Given the description of an element on the screen output the (x, y) to click on. 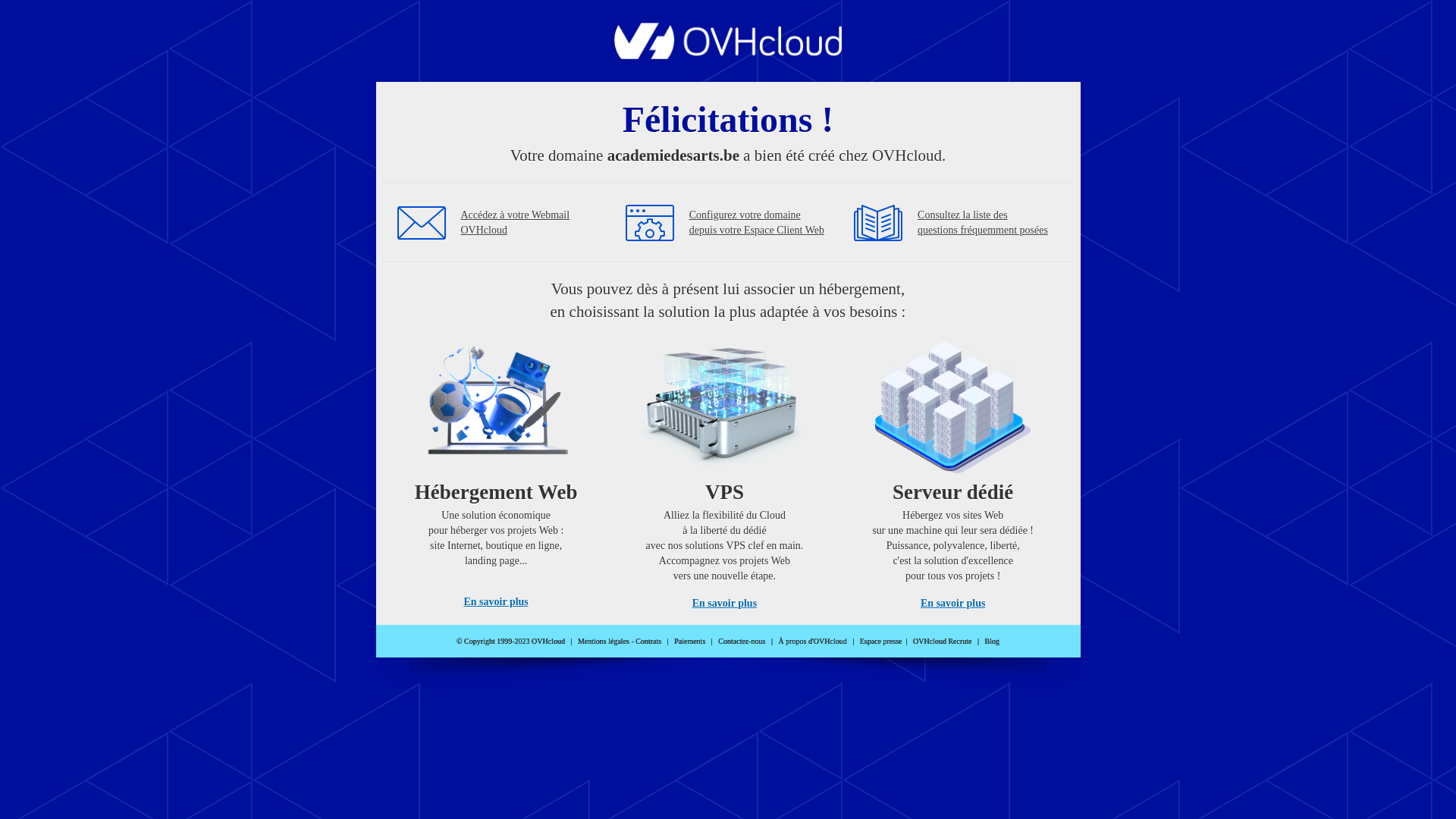
En savoir plus Element type: text (952, 602)
Espace presse Element type: text (880, 641)
OVHcloud Element type: hover (727, 54)
OVHcloud Recrute Element type: text (942, 641)
Blog Element type: text (992, 641)
VPS Element type: hover (724, 469)
Configurez votre domaine
depuis votre Espace Client Web Element type: text (756, 222)
Contactez-nous Element type: text (741, 641)
En savoir plus Element type: text (724, 602)
En savoir plus Element type: text (495, 601)
Paiements Element type: text (689, 641)
